Given the description of an element on the screen output the (x, y) to click on. 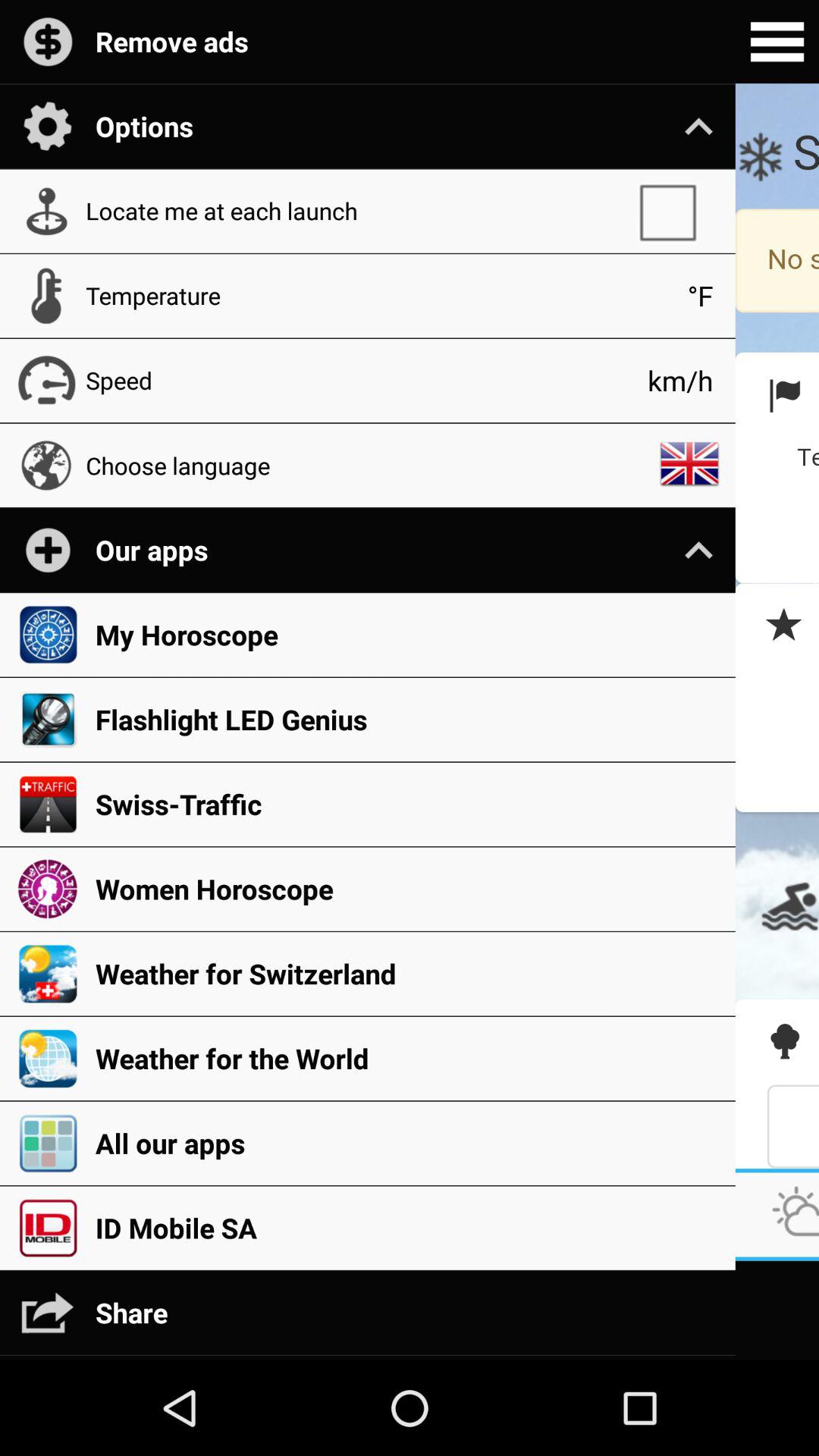
turn off the app to the right of locate me at icon (675, 211)
